Given the description of an element on the screen output the (x, y) to click on. 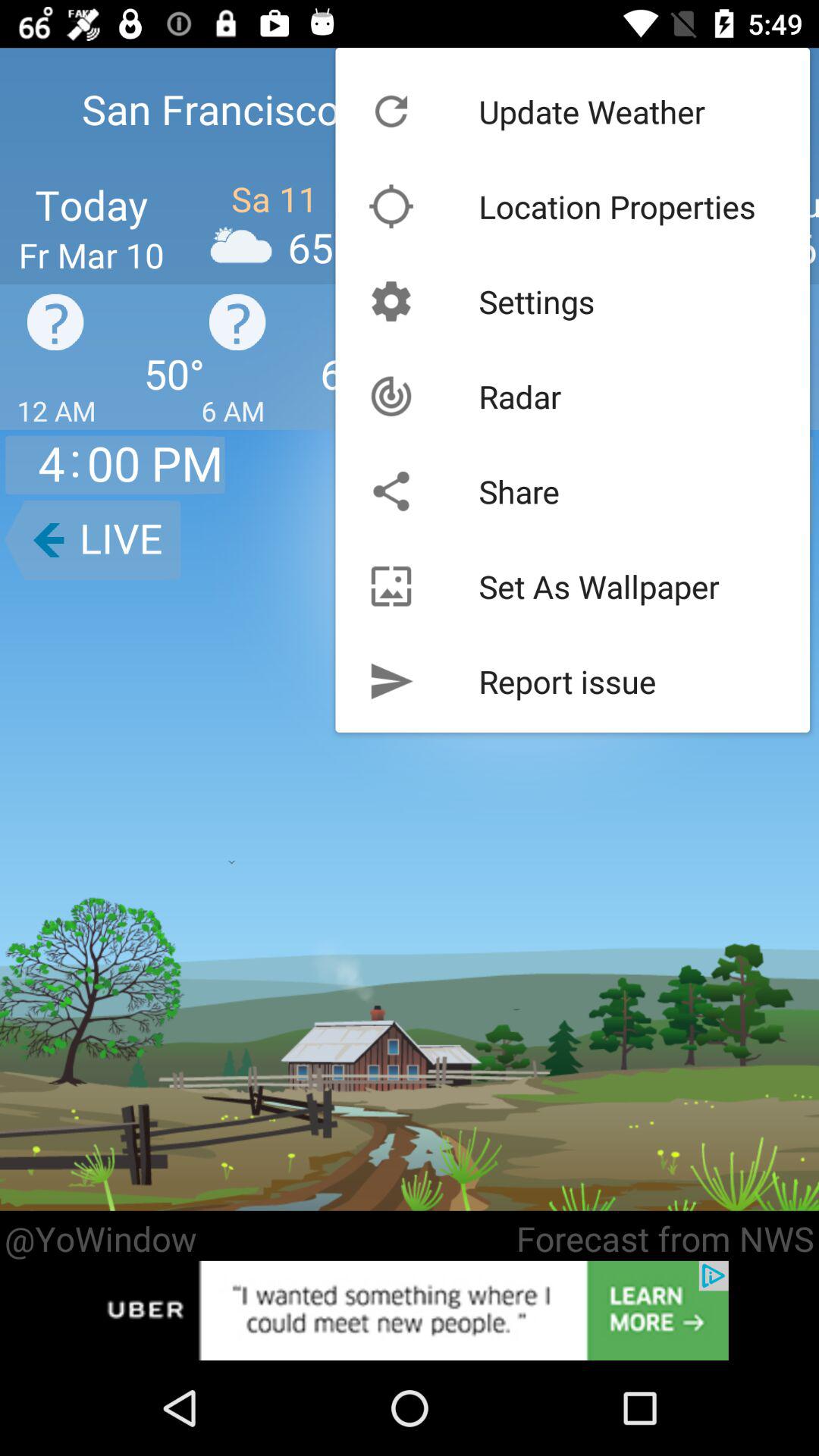
jump until set as wallpaper item (598, 585)
